Given the description of an element on the screen output the (x, y) to click on. 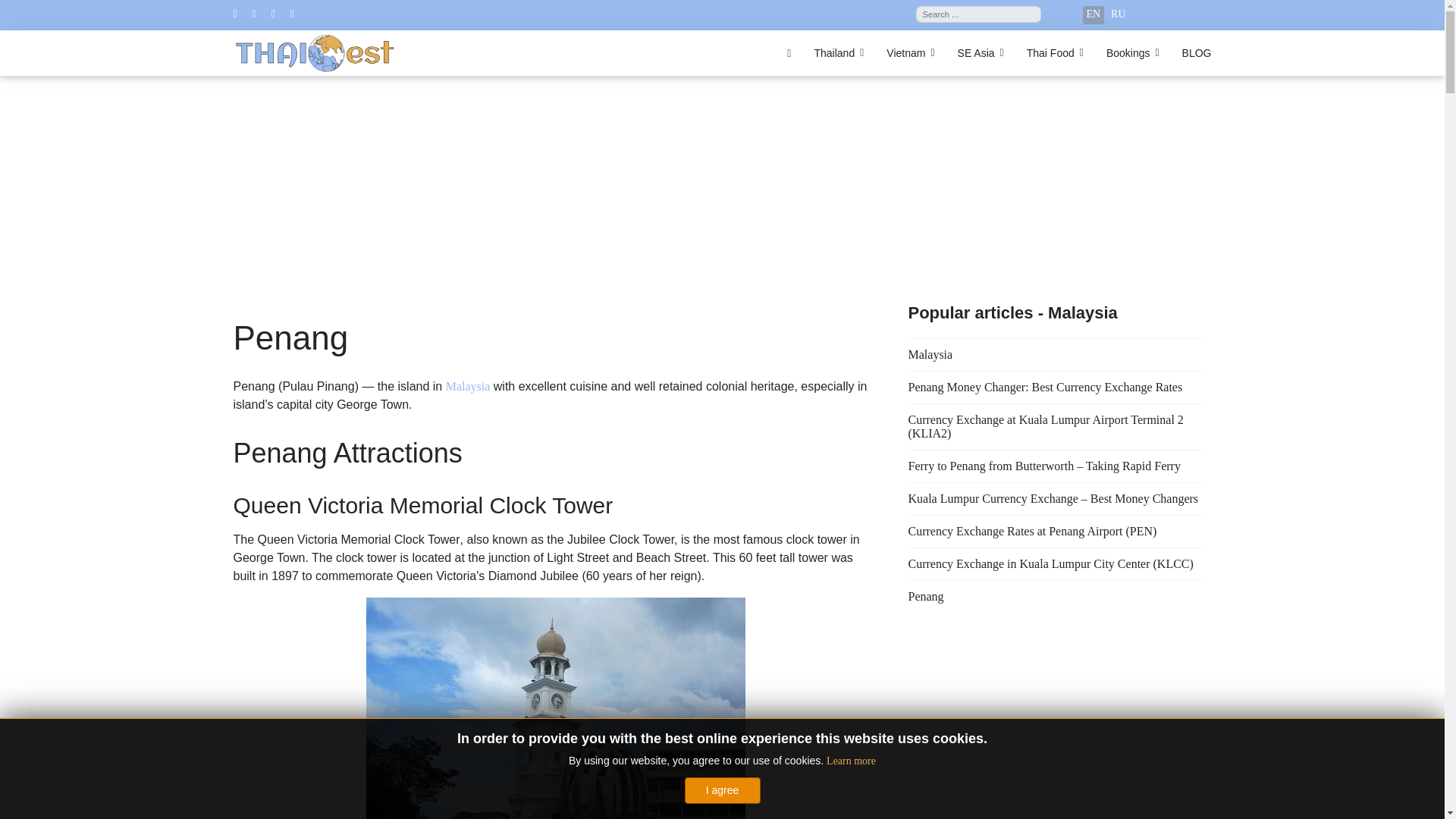
RU (1117, 13)
EN (1093, 13)
Thailand (838, 53)
Queen Victoria Memorial Clock Tower (554, 708)
